Given the description of an element on the screen output the (x, y) to click on. 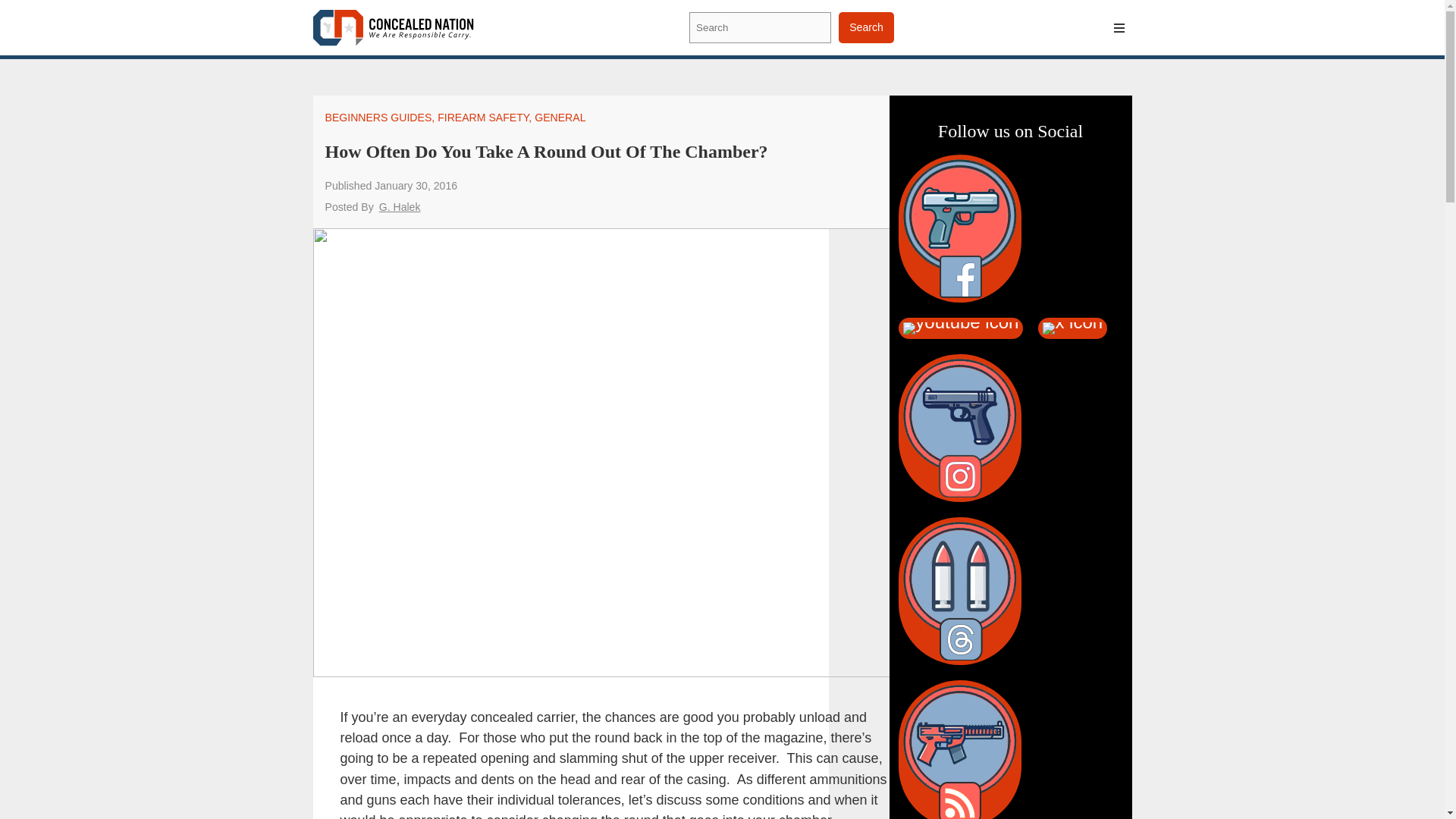
FIREARM SAFETY (483, 117)
Search (865, 27)
GENERAL (559, 117)
G. Halek (399, 206)
BEGINNERS GUIDES (377, 117)
